Given the description of an element on the screen output the (x, y) to click on. 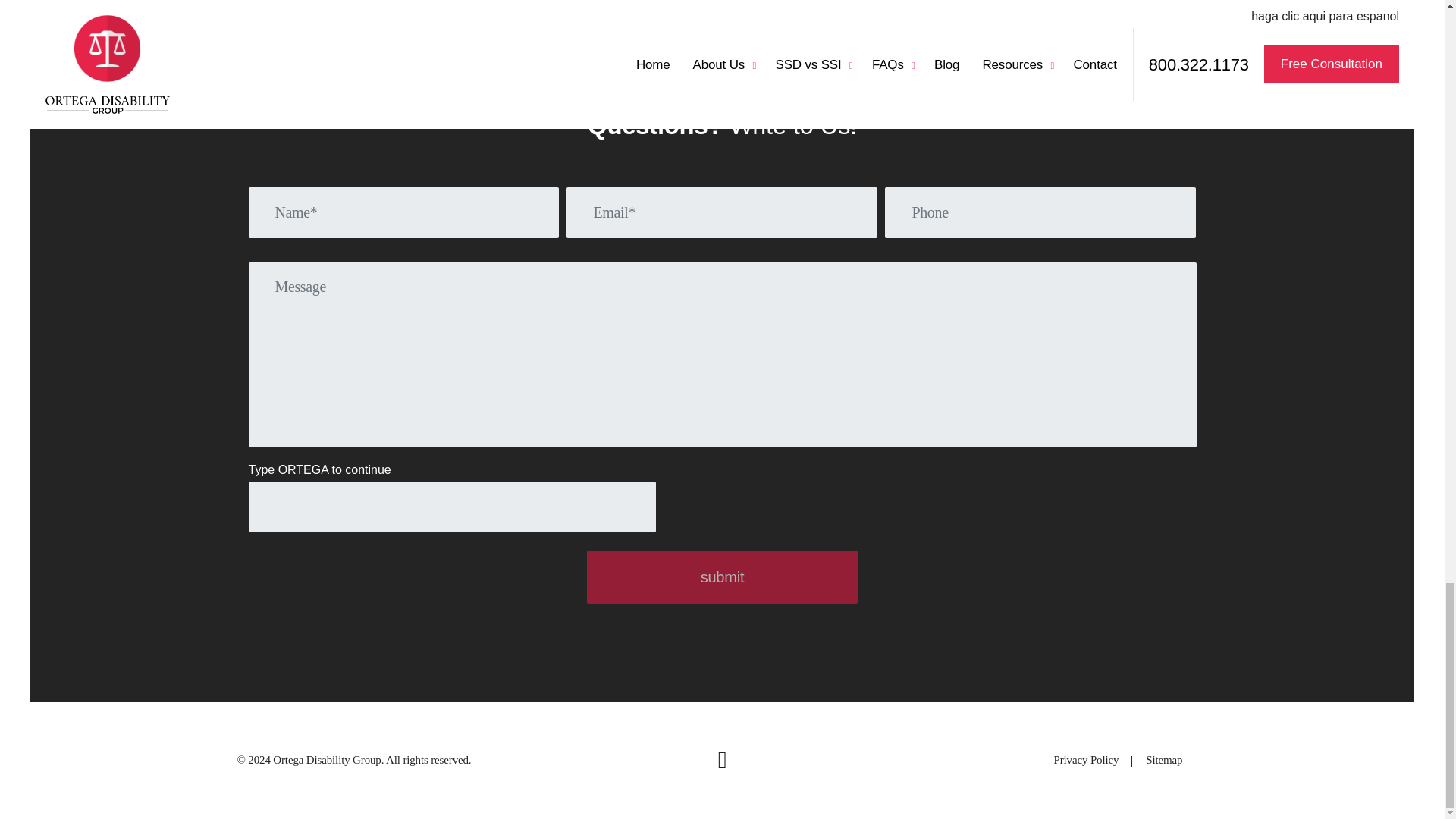
Facebook (721, 760)
Privacy Policy (1086, 759)
submit (722, 576)
submit (722, 576)
Sitemap (1163, 759)
